Given the description of an element on the screen output the (x, y) to click on. 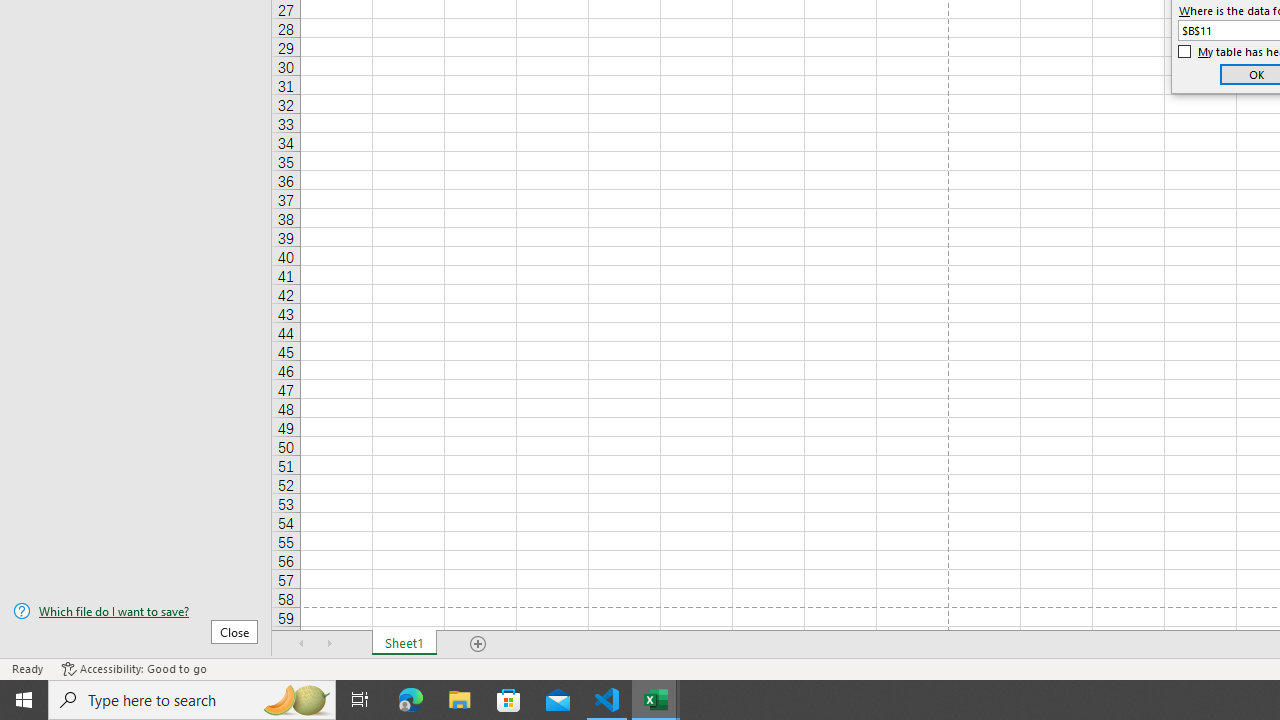
Add Sheet (478, 644)
Scroll Left (302, 644)
Scroll Right (330, 644)
Accessibility Checker Accessibility: Good to go (134, 668)
Sheet1 (404, 644)
Close (234, 631)
Which file do I want to save? (136, 611)
